Given the description of an element on the screen output the (x, y) to click on. 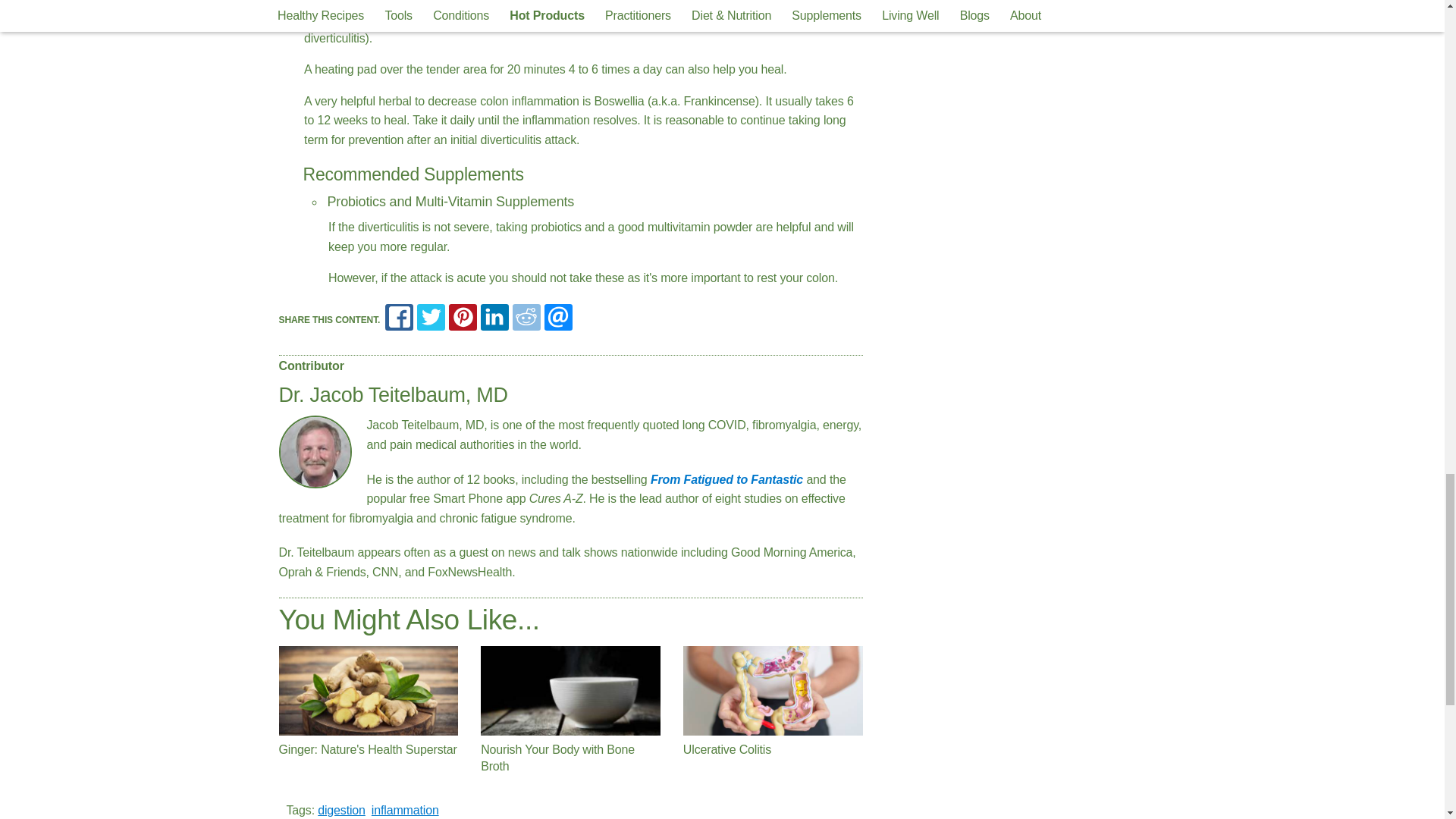
Nourish Your Body with Bone Broth (570, 690)
Ulcerative Colitis (772, 690)
